Given the description of an element on the screen output the (x, y) to click on. 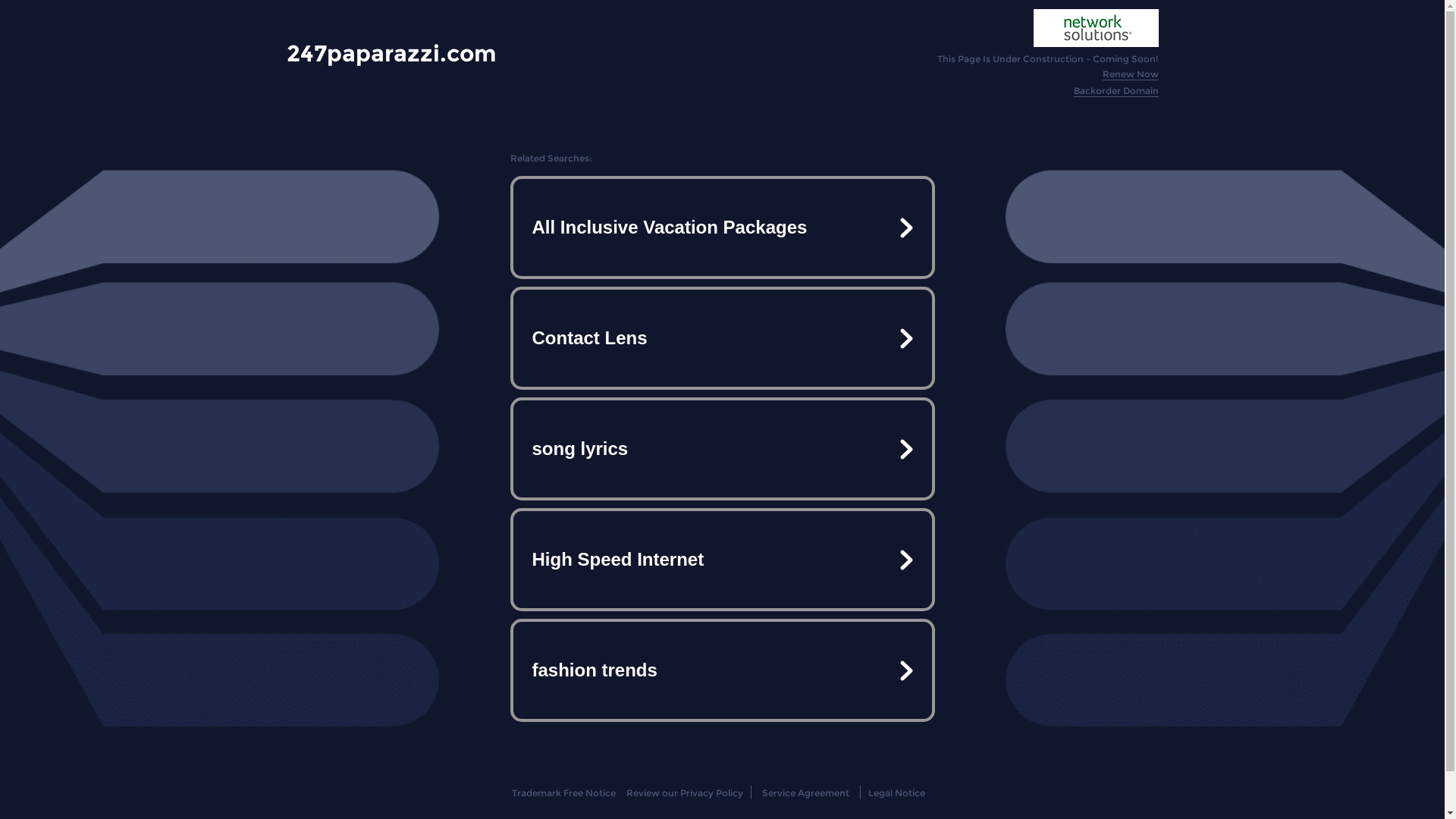
song lyrics Element type: text (721, 448)
Trademark Free Notice Element type: text (563, 792)
Renew Now Element type: text (1130, 74)
Review our Privacy Policy Element type: text (684, 792)
Backorder Domain Element type: text (1115, 90)
247paparazzi.com Element type: text (390, 53)
Legal Notice Element type: text (896, 792)
fashion trends Element type: text (721, 669)
All Inclusive Vacation Packages Element type: text (721, 227)
Service Agreement Element type: text (805, 792)
High Speed Internet Element type: text (721, 559)
Contact Lens Element type: text (721, 337)
